Given the description of an element on the screen output the (x, y) to click on. 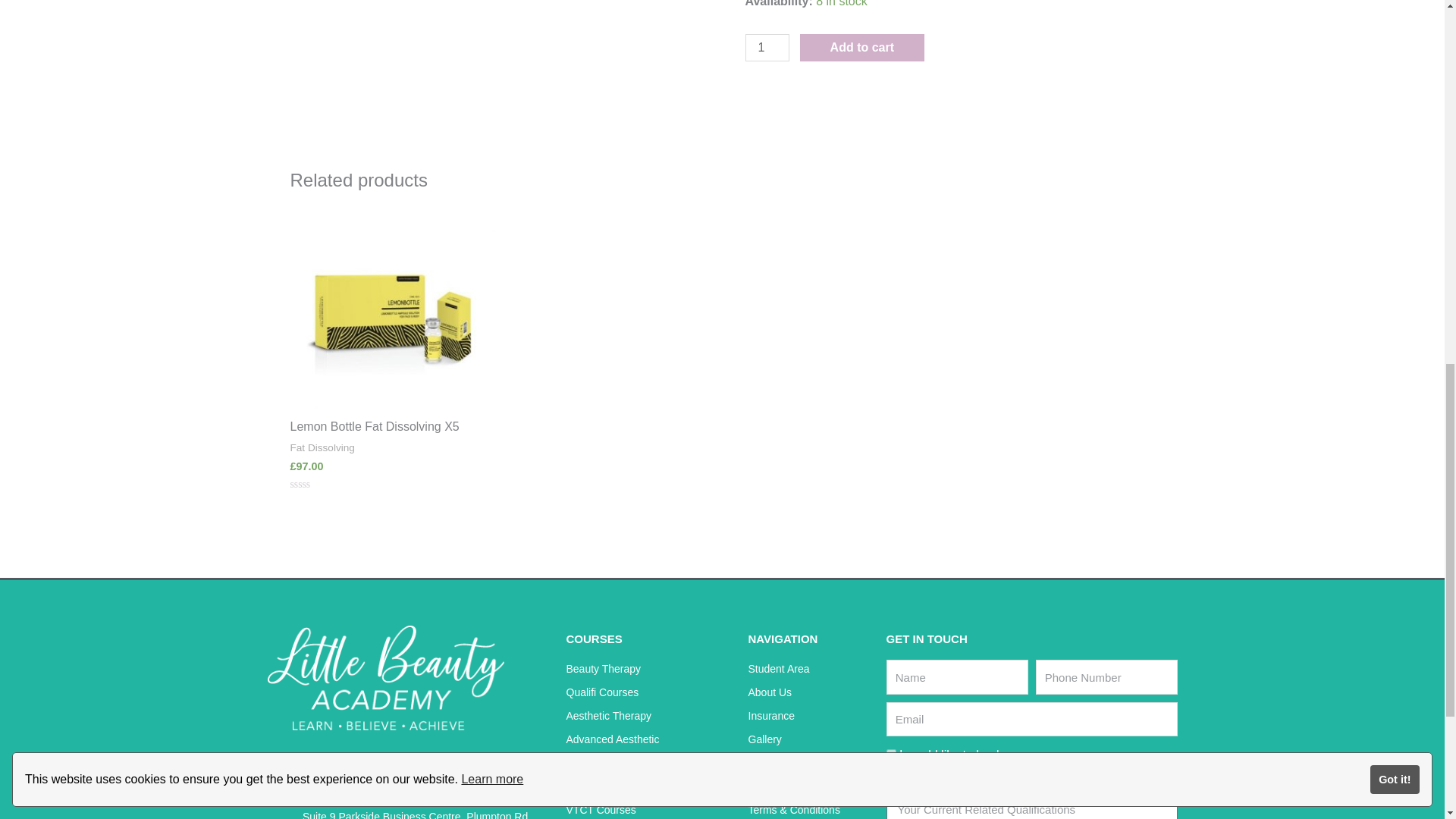
Beauty Therapy (649, 669)
Lemon Bottle Fat Dissolving X5 (392, 426)
1 (766, 47)
Aesthetic Therapy (649, 716)
01992 462884 (411, 765)
I would like to learn more (890, 777)
Qualifi Courses (649, 692)
Add to cart (861, 47)
I would like to book a course (890, 754)
Advanced Aesthetic (649, 740)
Semi-Permanent Make-up (649, 763)
